Given the description of an element on the screen output the (x, y) to click on. 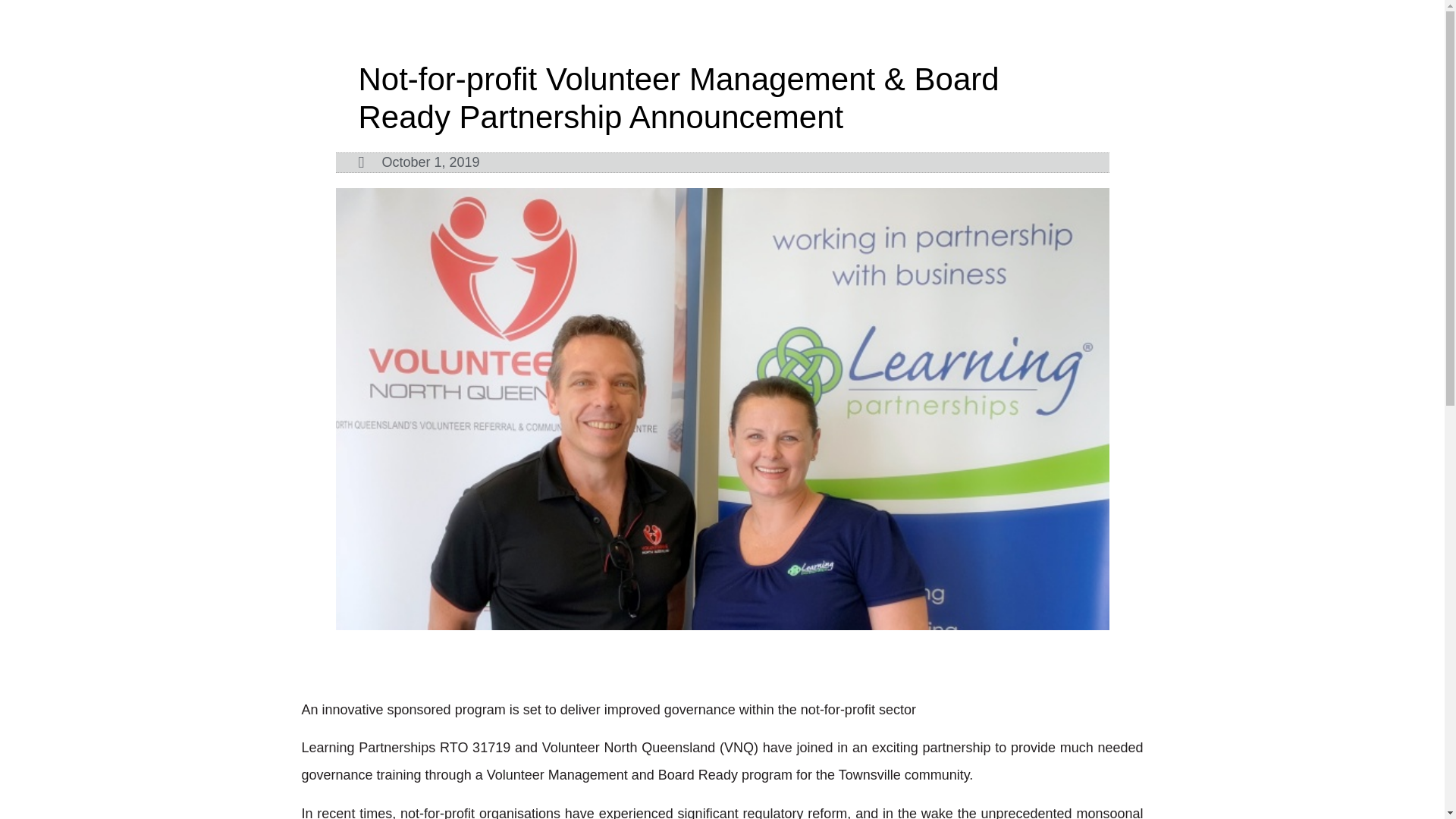
October 1, 2019 (418, 162)
